Given the description of an element on the screen output the (x, y) to click on. 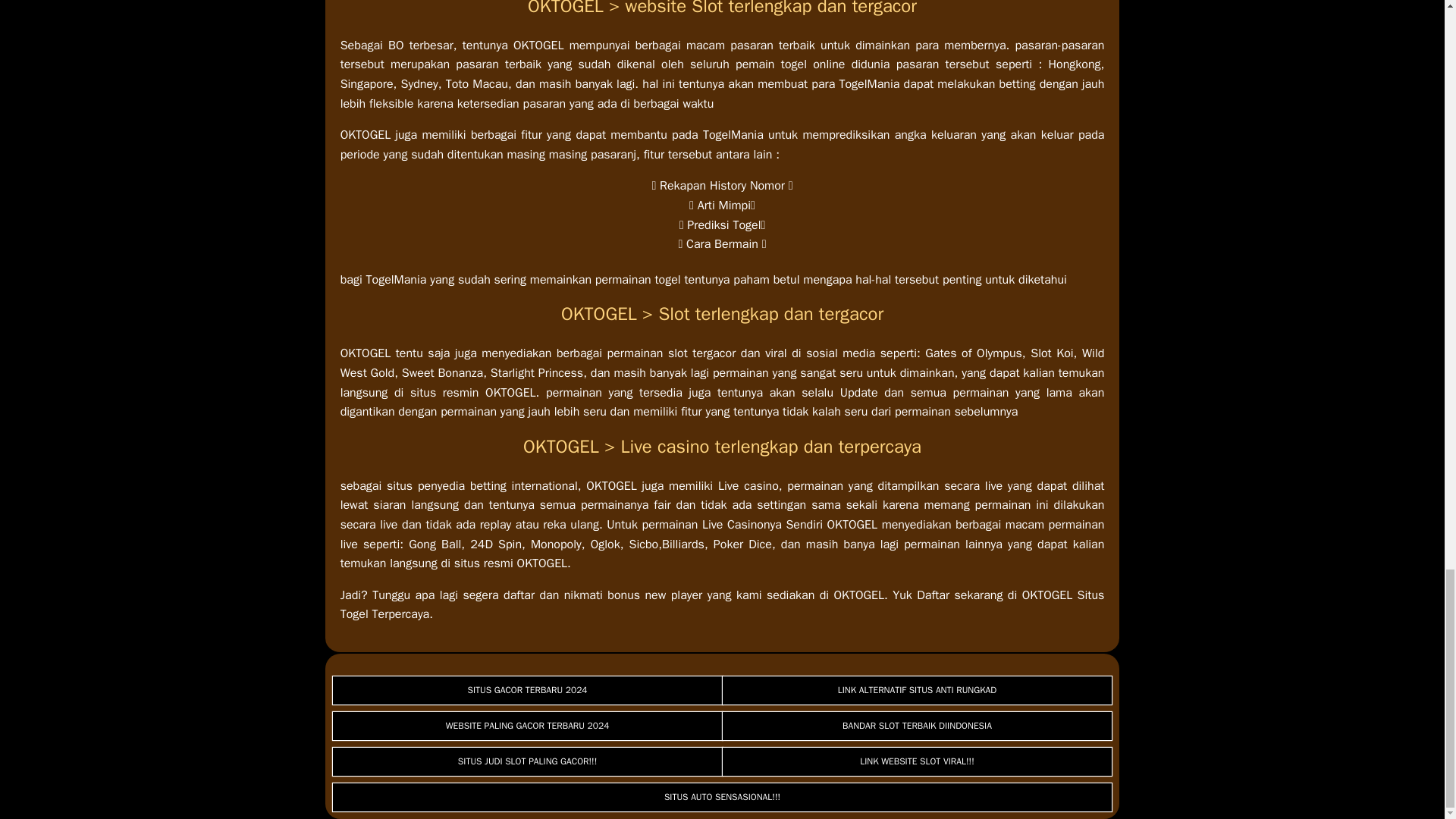
BANDAR SLOT TERBAIK DIINDONESIA (917, 725)
SITUS JUDI SLOT PALING GACOR!!! (527, 761)
WEBSITE PALING GACOR TERBARU 2024 (527, 725)
SITUS AUTO SENSASIONAL!!! (722, 796)
LINK ALTERNATIF SITUS ANTI RUNGKAD (917, 690)
LINK WEBSITE SLOT VIRAL!!! (917, 761)
SITUS GACOR TERBARU 2024 (527, 690)
